Given the description of an element on the screen output the (x, y) to click on. 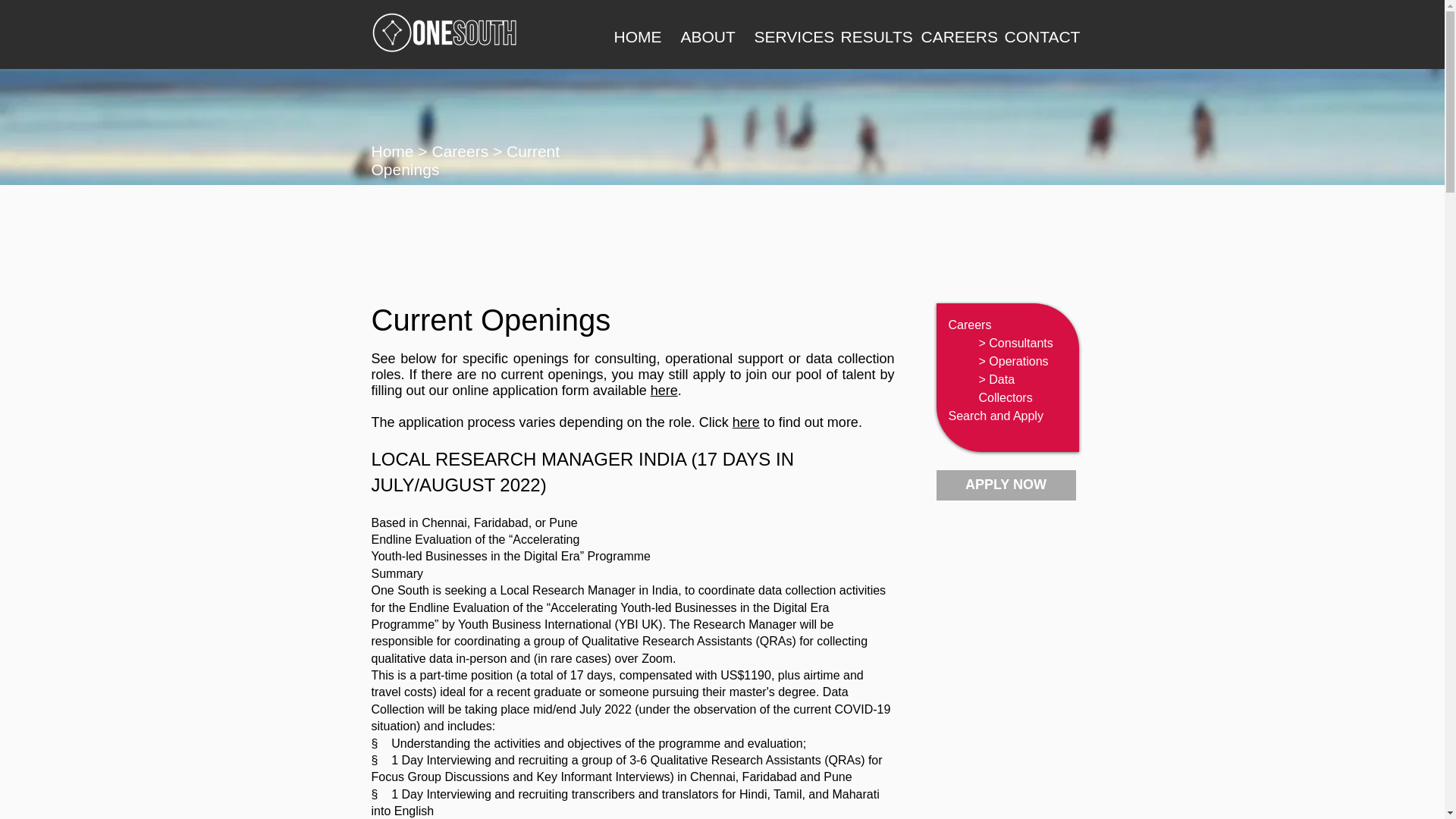
SERVICES (781, 34)
Careers (461, 150)
here (664, 390)
ABOUT (702, 34)
Careers (969, 324)
Current Openings (465, 160)
RESULTS (865, 34)
HOME (631, 34)
CONTACT (1031, 34)
here (746, 421)
APPLY NOW (1005, 485)
Home (395, 150)
Search and Apply (994, 415)
CAREERS (946, 34)
